Given the description of an element on the screen output the (x, y) to click on. 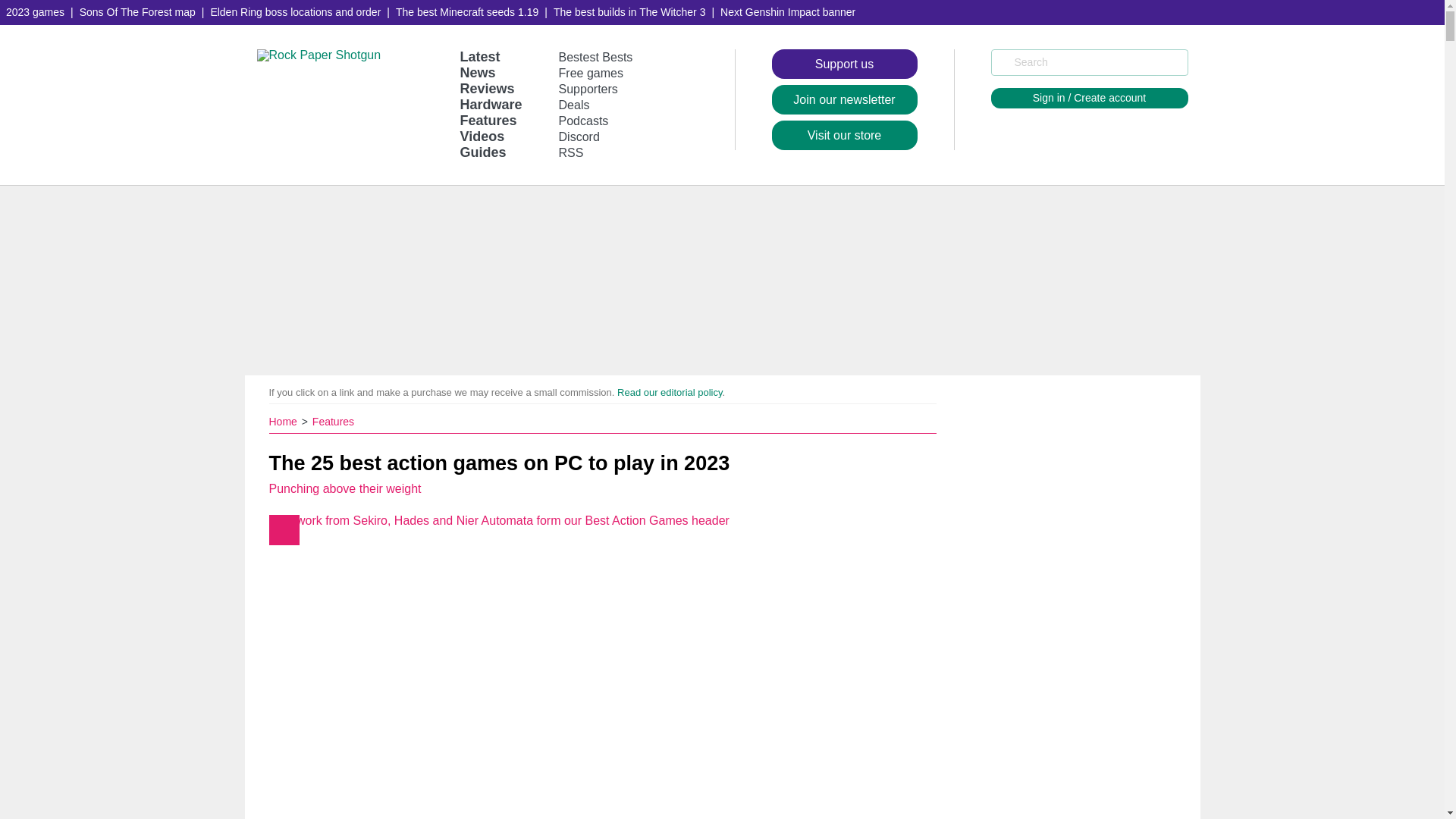
Features (333, 421)
Podcasts (583, 120)
Sons Of The Forest map (138, 12)
Next Genshin Impact banner (787, 12)
The best Minecraft seeds 1.19 (467, 12)
Features (488, 120)
Discord (579, 136)
The best builds in The Witcher 3 (629, 12)
Supporters (588, 88)
Bestest Bests (596, 56)
Guides (482, 151)
Free games (591, 72)
2023 games (34, 12)
Reviews (486, 88)
Hardware (490, 104)
